Given the description of an element on the screen output the (x, y) to click on. 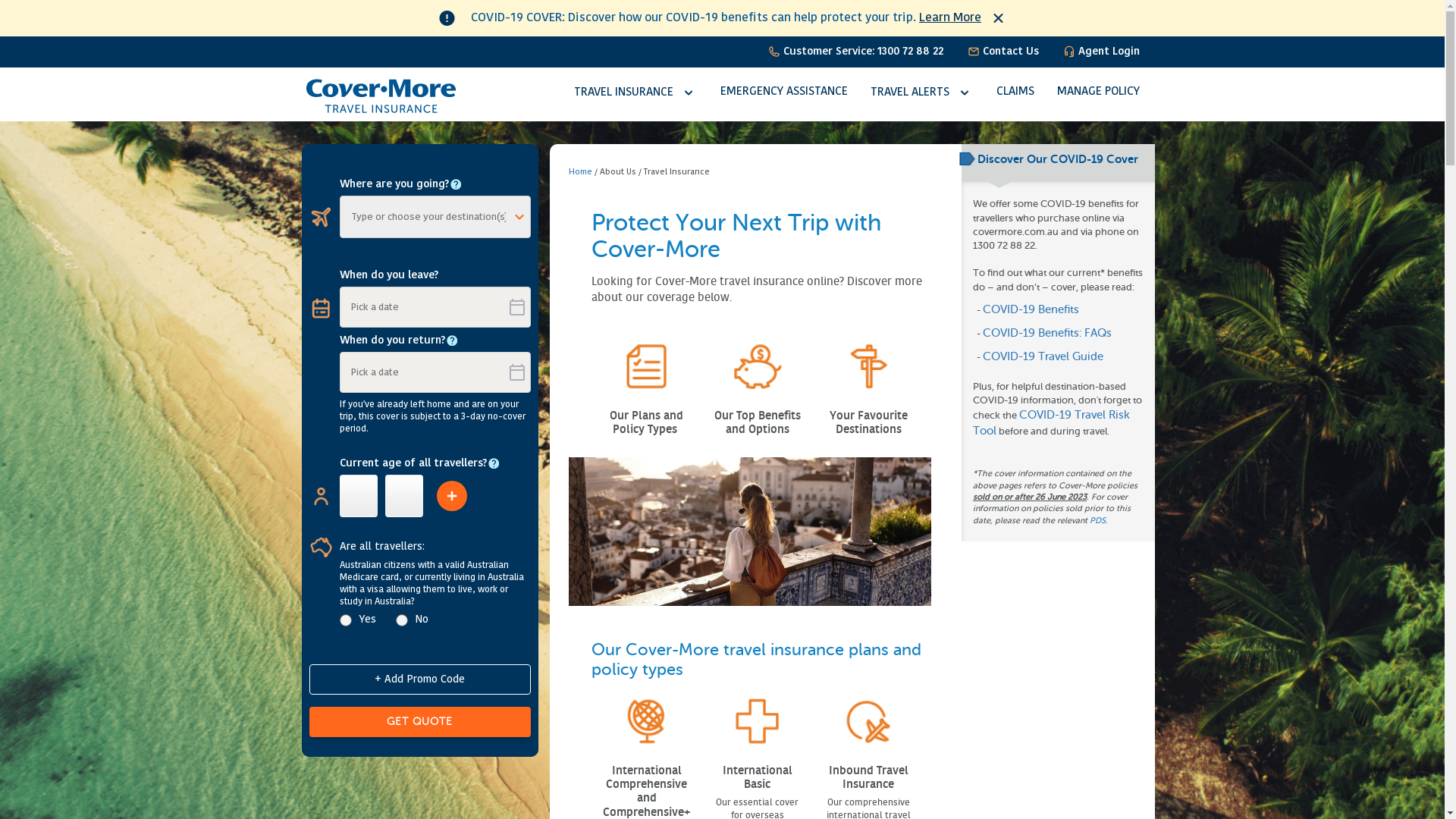
COVID-19 Benefits Element type: text (1030, 309)
COVID-19 Travel Risk Tool Element type: text (1050, 422)
Agent Login Element type: text (1101, 51)
CLAIMS Element type: text (1015, 91)
get quote Element type: text (419, 721)
Skip to main content Element type: text (55, 0)
Inbound Travel Insurance Element type: text (867, 776)
PDS Element type: text (1097, 520)
Our Plans and Policy Types Element type: text (646, 421)
TRAVEL INSURANCE Element type: text (634, 92)
Our Top Benefits and Options Element type: text (757, 421)
Contact Us Element type: text (1002, 51)
MANAGE POLICY Element type: text (1098, 91)
Learn More Element type: text (950, 18)
COVID-19 Travel Guide Element type: text (1042, 356)
International Basic Element type: text (757, 776)
Home Element type: text (580, 172)
TRAVEL ALERTS Element type: text (921, 92)
Your Favourite Destinations Element type: text (868, 421)
EMERGENCY ASSISTANCE Element type: text (783, 91)
  Element type: text (678, 428)
COVID-19 Benefits: FAQs Element type: text (1046, 332)
